Given the description of an element on the screen output the (x, y) to click on. 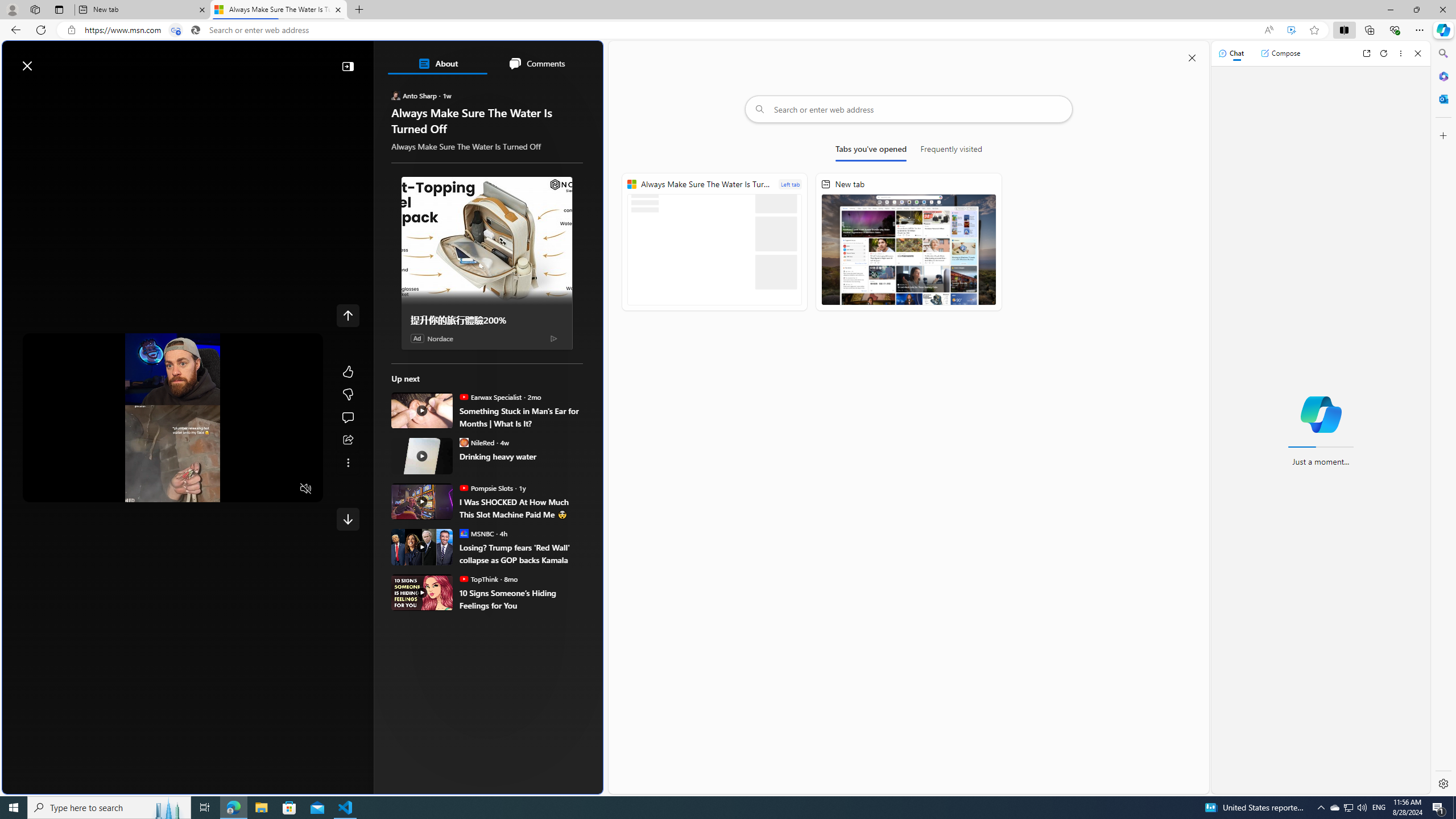
Collapse (347, 65)
Forge of Empires (460, 601)
AutomationID: e5rZOEMGacU1 (347, 518)
Like (347, 371)
Quality Settings (238, 488)
Web search (166, 60)
